Given the description of an element on the screen output the (x, y) to click on. 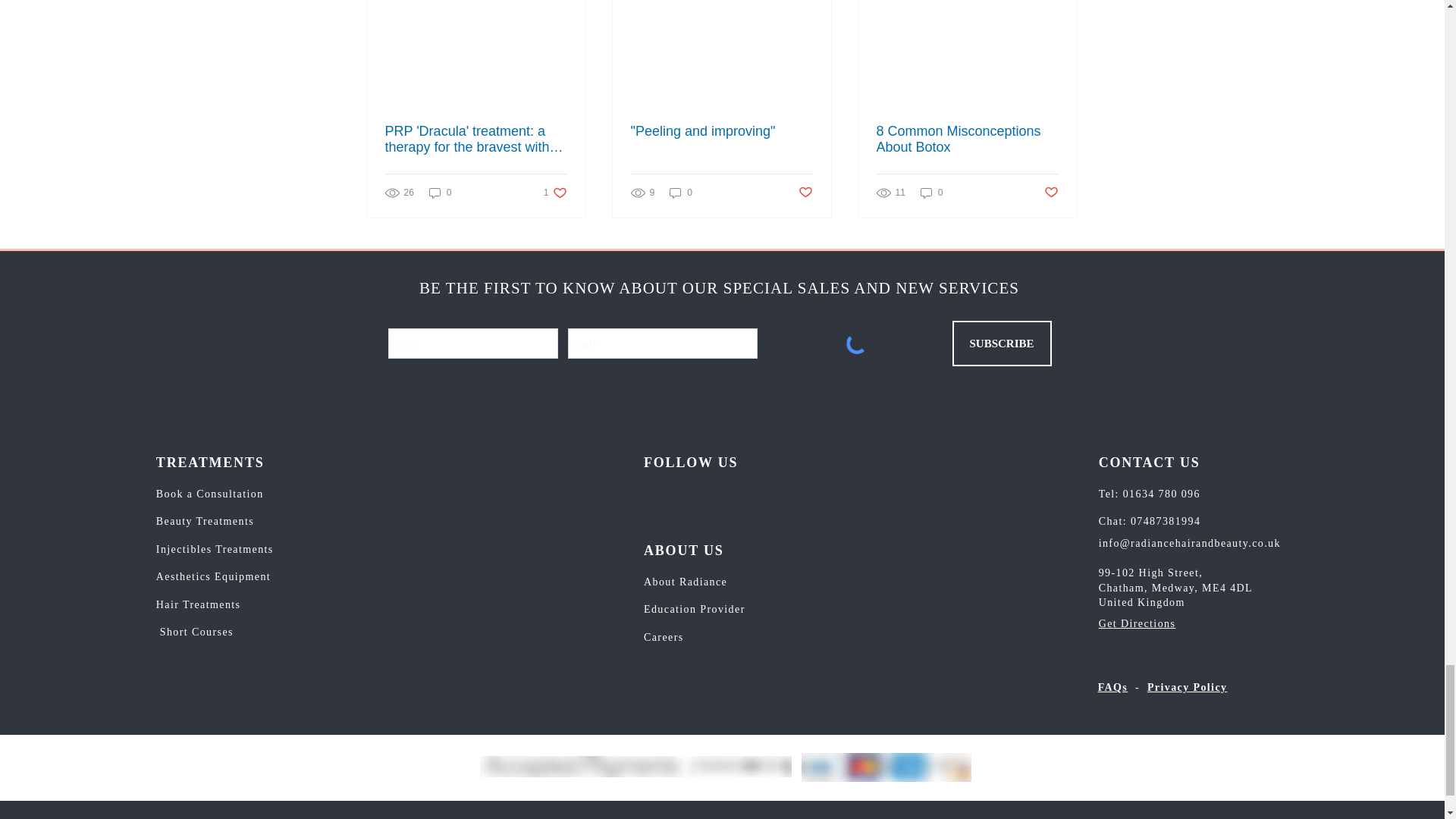
0 (440, 192)
Post not marked as liked (804, 192)
"Peeling and improving" (555, 192)
0 (721, 131)
